Given the description of an element on the screen output the (x, y) to click on. 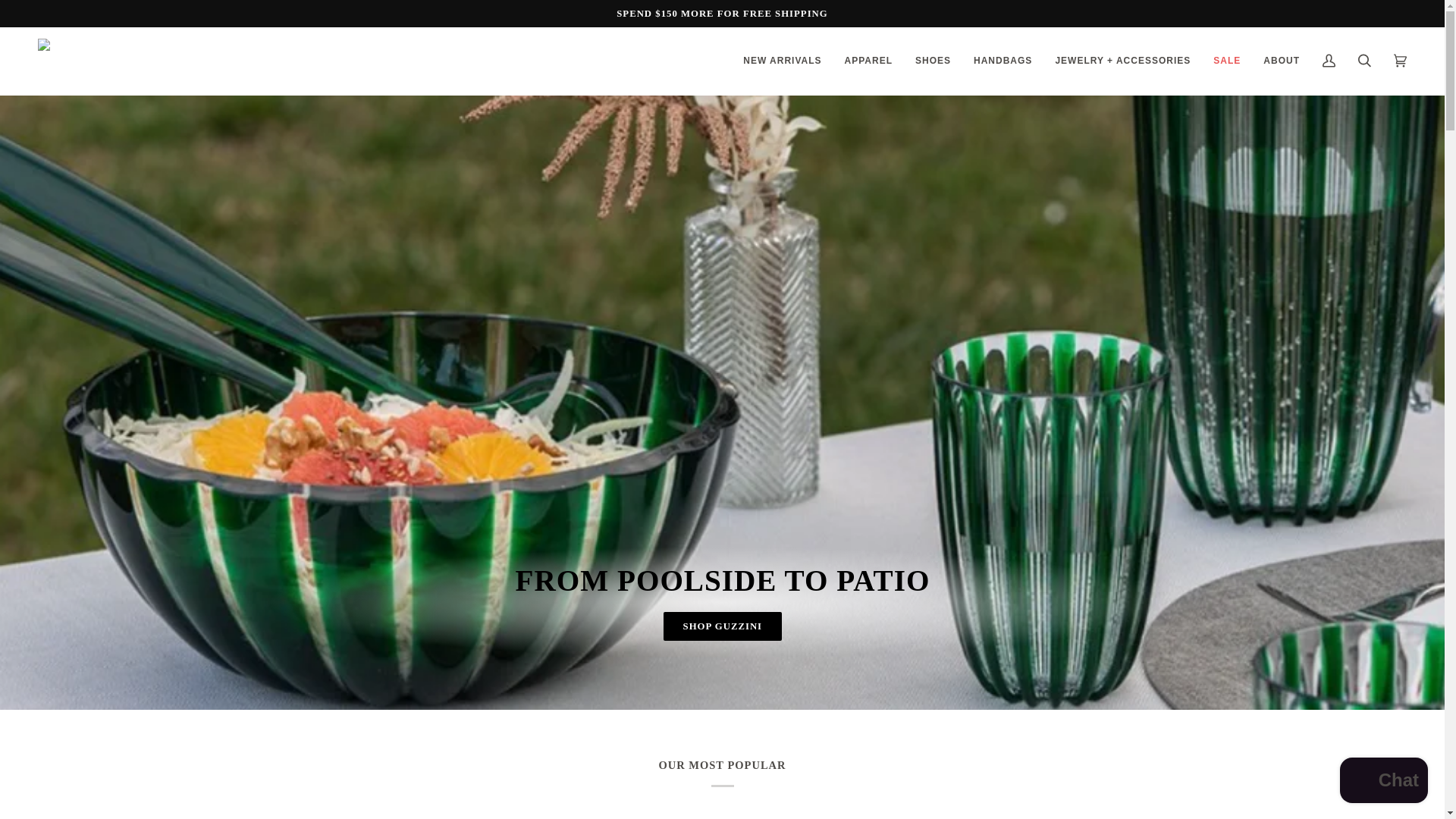
Shopify online store chat (1383, 781)
HANDBAGS (1002, 61)
APPAREL (868, 61)
NEW ARRIVALS (782, 61)
